Given the description of an element on the screen output the (x, y) to click on. 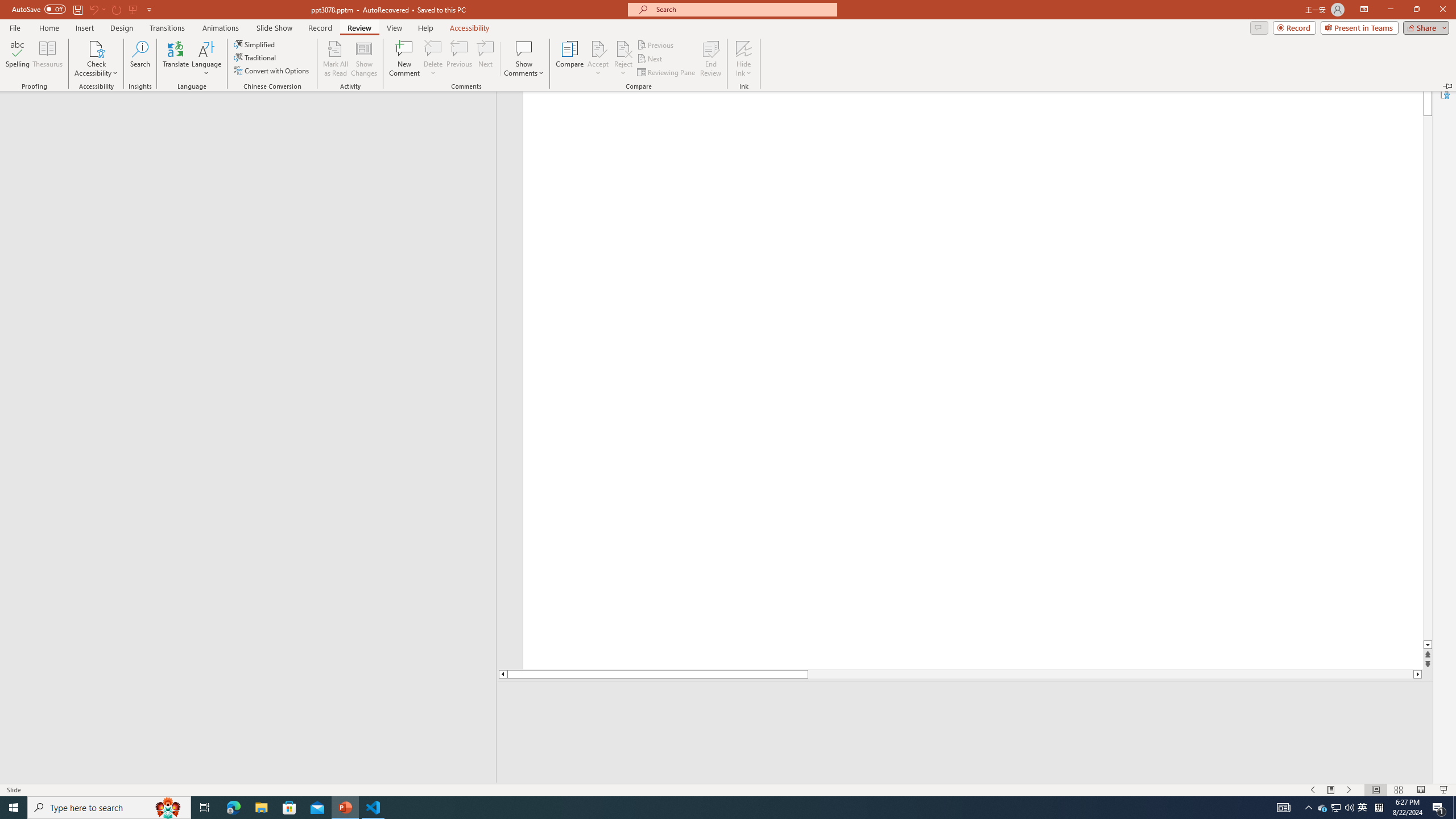
Microsoft Store (289, 807)
Type here to search (108, 807)
AutomationID: 4105 (1322, 807)
